Given the description of an element on the screen output the (x, y) to click on. 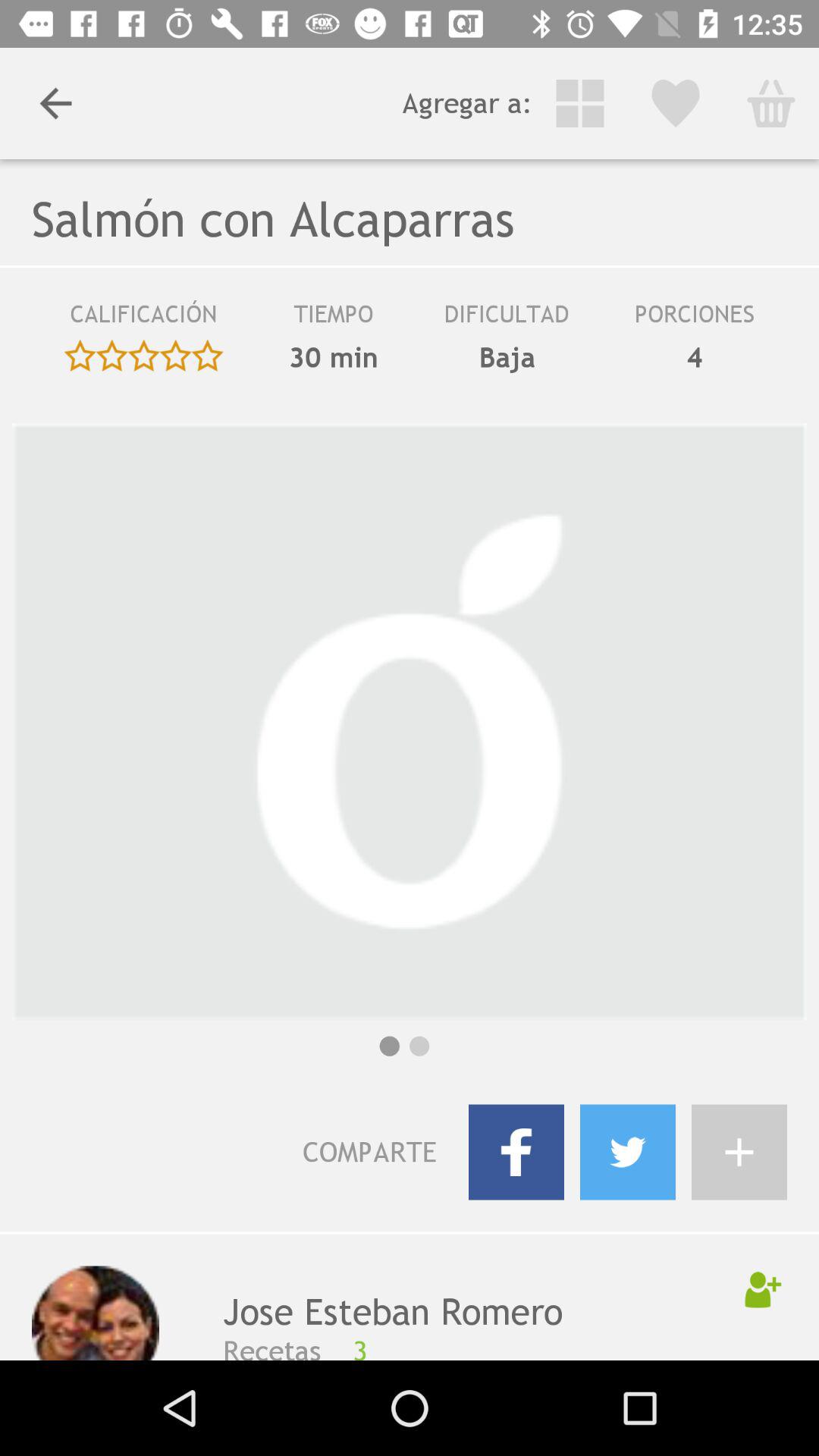
tweeter icon (627, 1152)
